Given the description of an element on the screen output the (x, y) to click on. 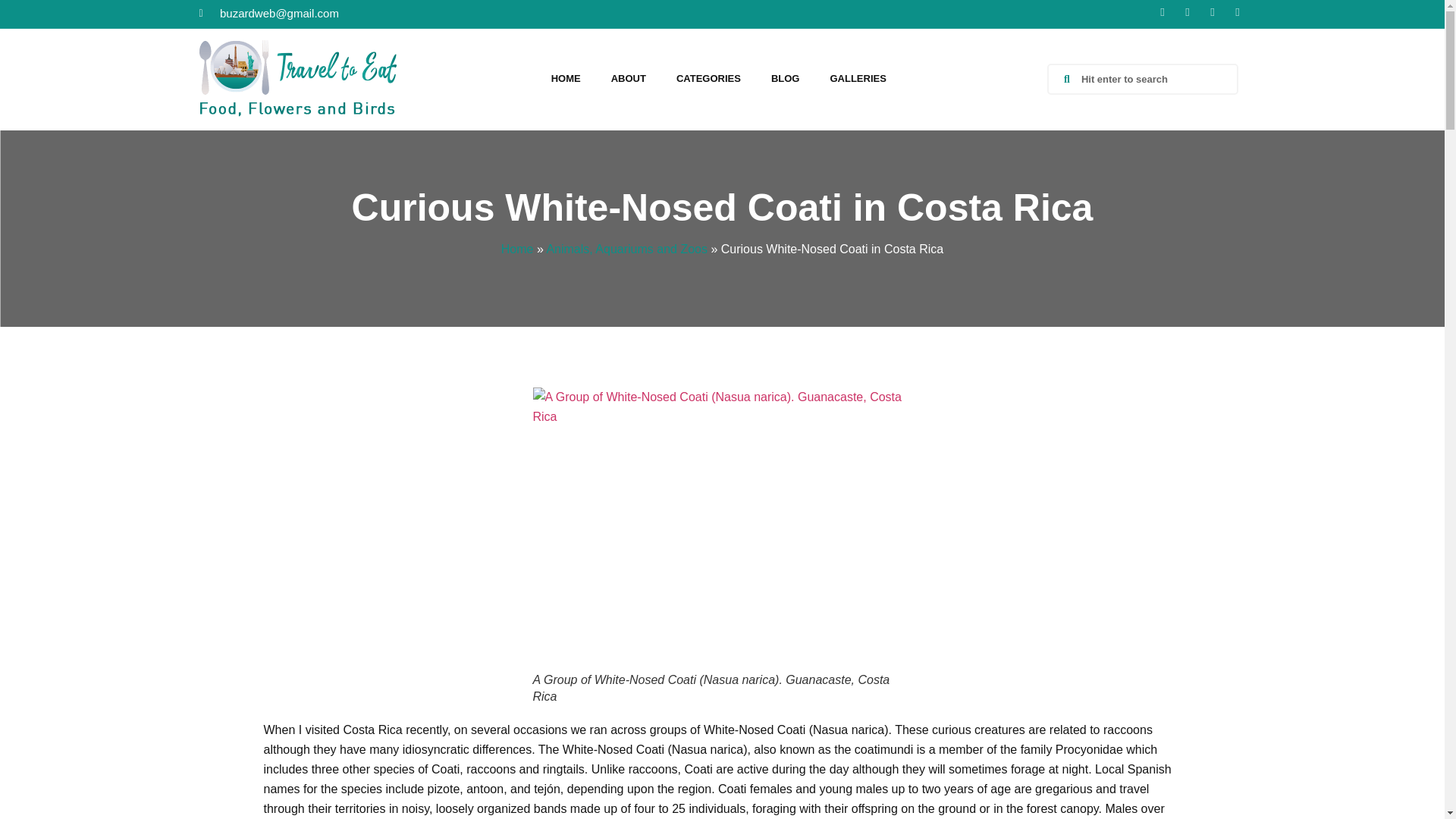
ABOUT (628, 78)
CATEGORIES (708, 78)
Search (1151, 79)
HOME (566, 78)
Home (517, 248)
Animals, Aquariums and Zoos (626, 248)
